Given the description of an element on the screen output the (x, y) to click on. 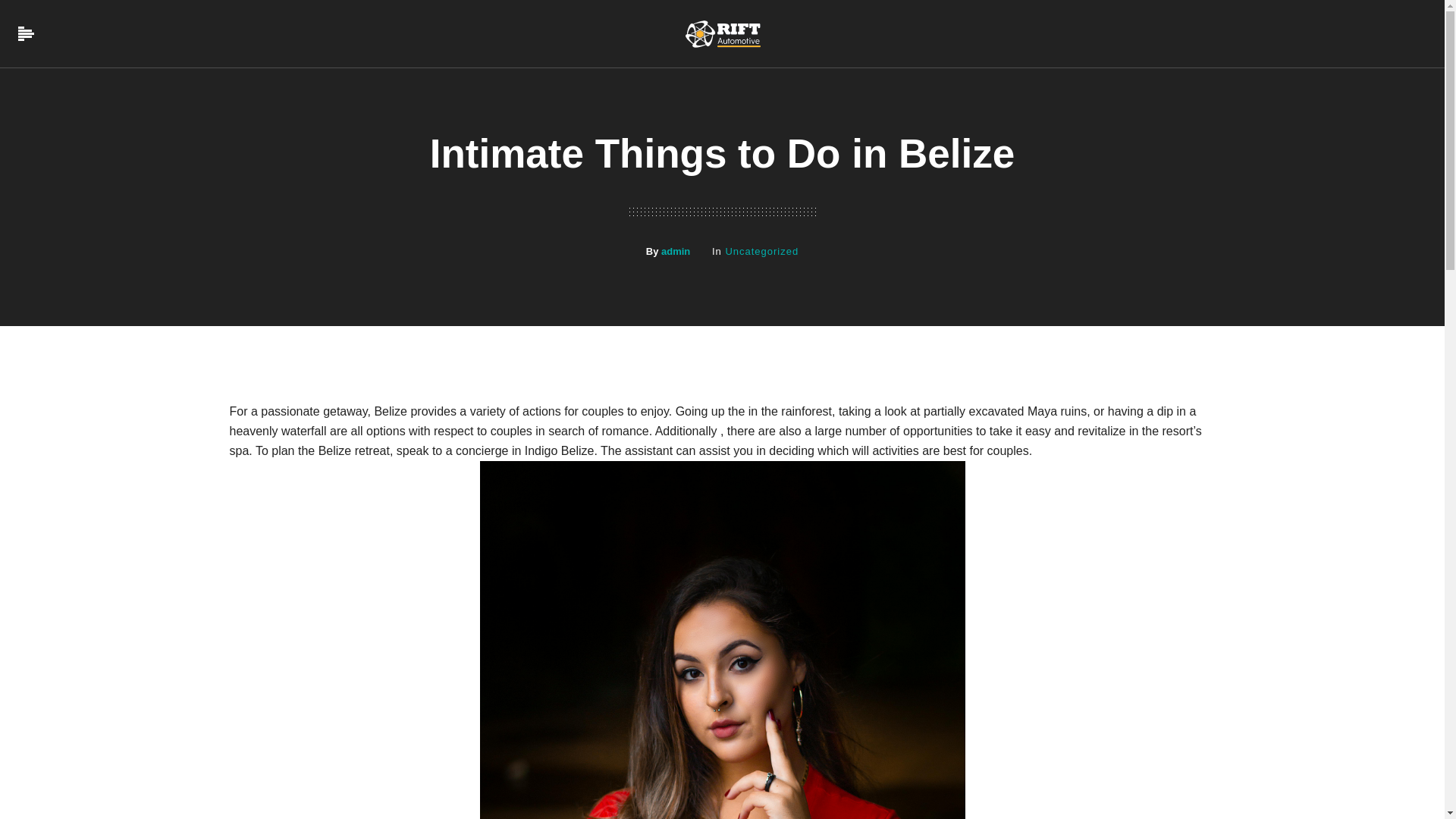
admin (675, 251)
Uncategorized (761, 251)
